Given the description of an element on the screen output the (x, y) to click on. 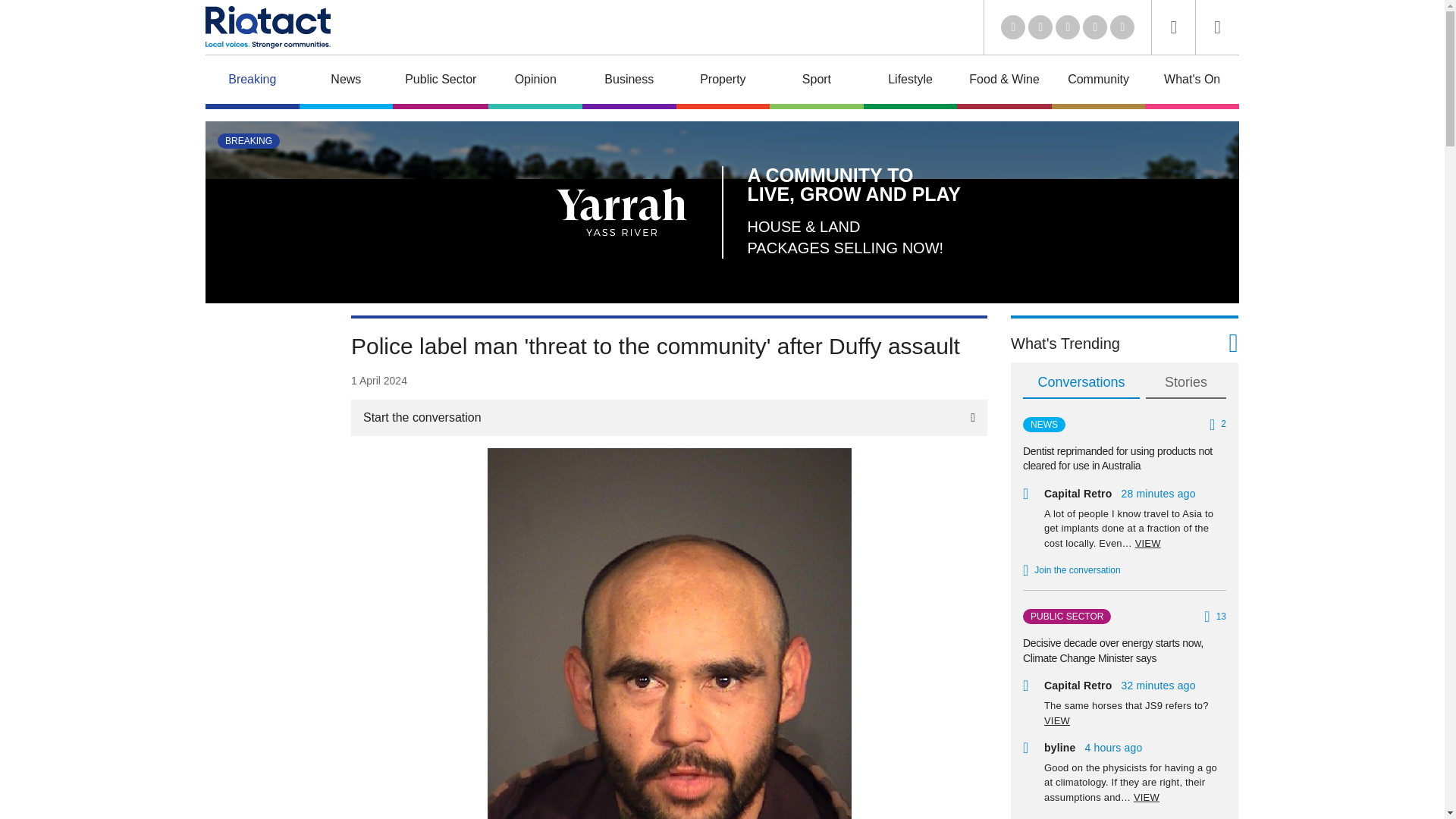
LinkedIn (1013, 27)
Instagram (1121, 27)
Login to Riotact (1217, 27)
Youtube (1067, 27)
Breaking (252, 81)
Facebook (1094, 27)
News (346, 81)
Search the website (1173, 27)
3rd party ad content (265, 542)
Riotact Home (267, 26)
Twitter (1039, 27)
